Given the description of an element on the screen output the (x, y) to click on. 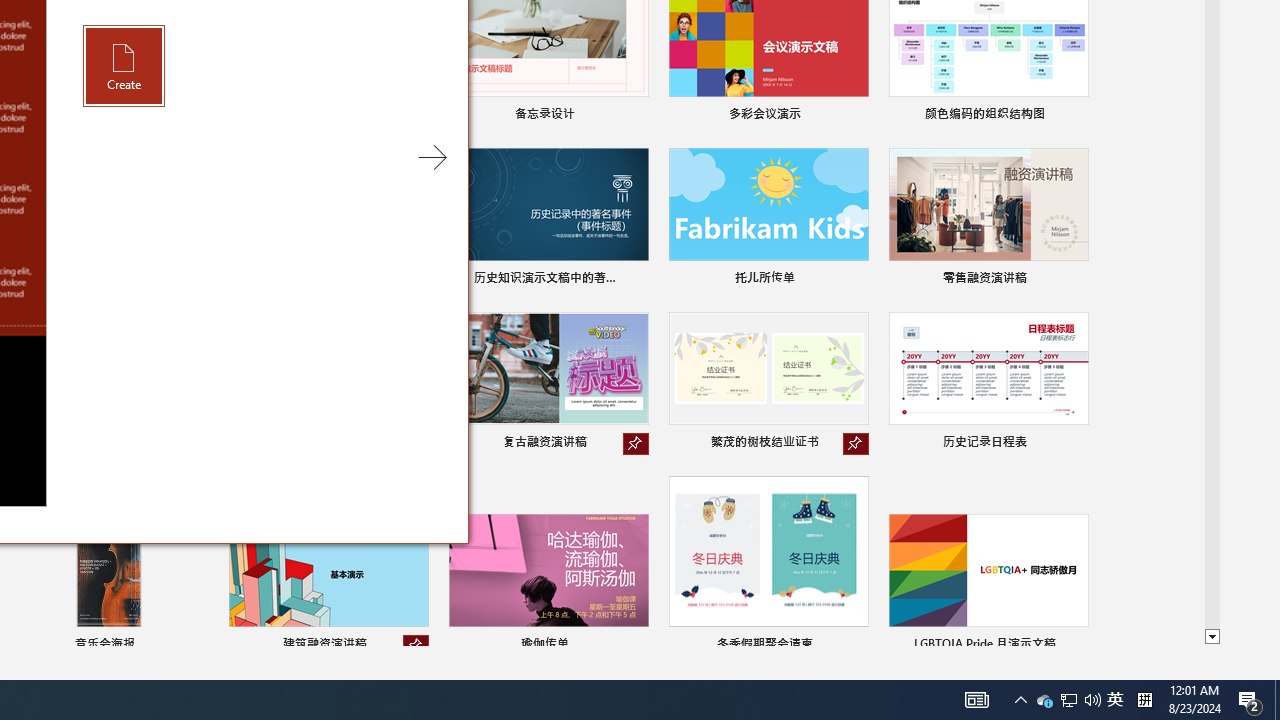
Tray Input Indicator - Chinese (Simplified, China) (1069, 699)
Notification Chevron (1144, 699)
